Given the description of an element on the screen output the (x, y) to click on. 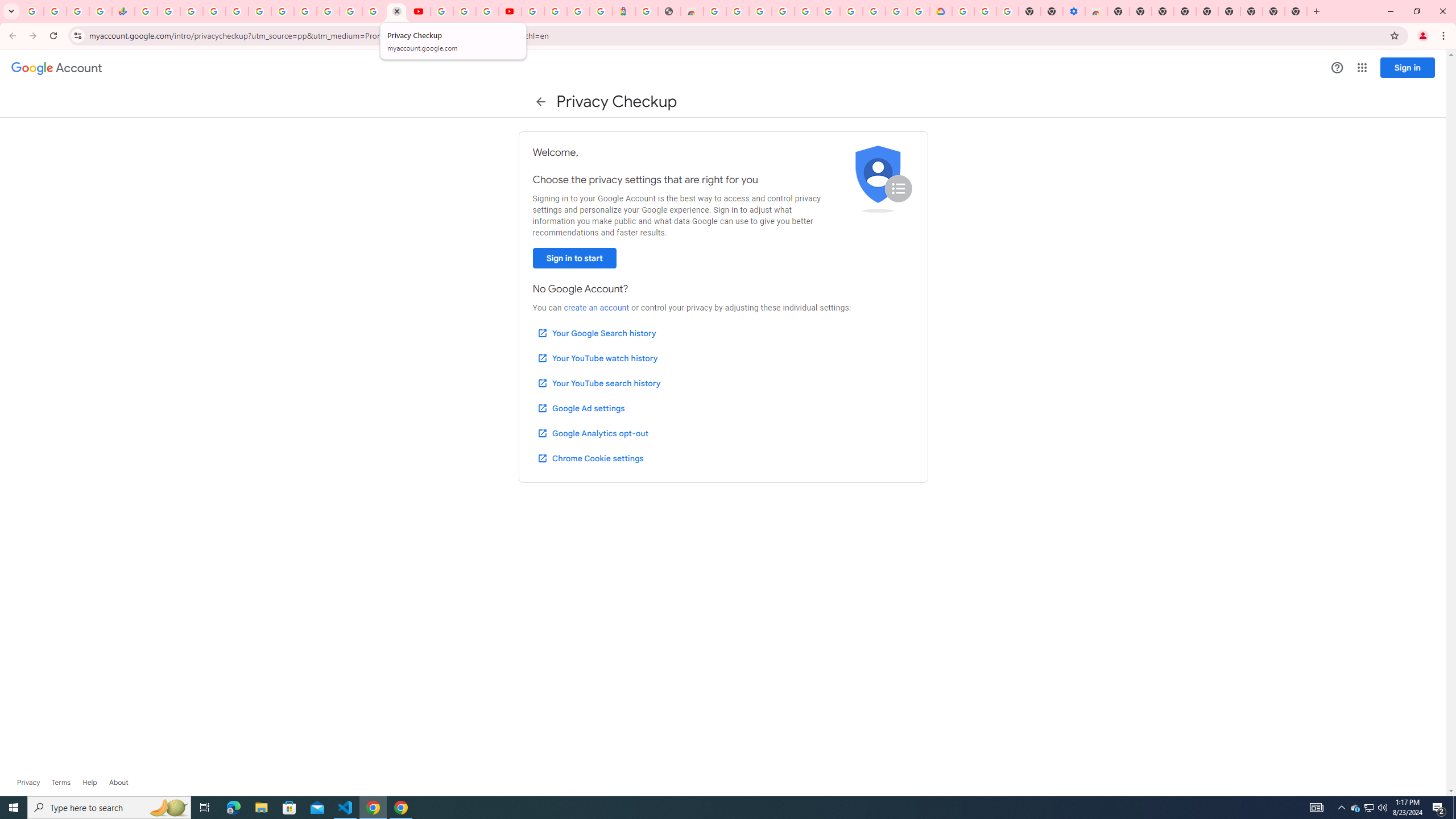
Ad Settings (783, 11)
Sign in - Google Accounts (532, 11)
Terms (61, 782)
Chrome Cookie settings (589, 457)
create an account (595, 307)
Atour Hotel - Google hotels (623, 11)
Learn more about Google Account (118, 782)
Google Account Help (985, 11)
Sign in - Google Accounts (555, 11)
Settings - Accessibility (1074, 11)
Google Ad settings (580, 408)
